Given the description of an element on the screen output the (x, y) to click on. 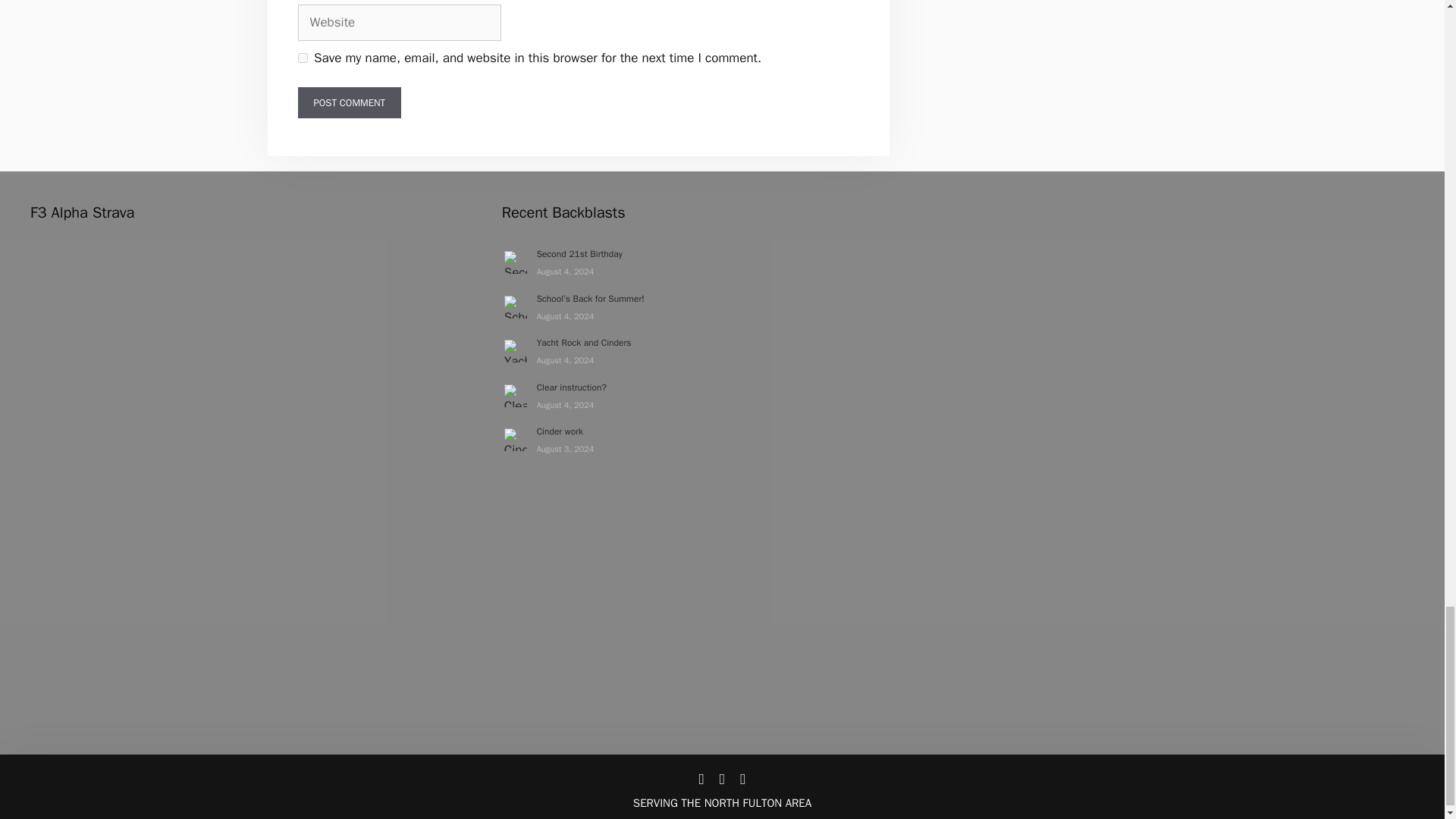
yes (302, 58)
Post Comment (349, 102)
Post Comment (349, 102)
